Given the description of an element on the screen output the (x, y) to click on. 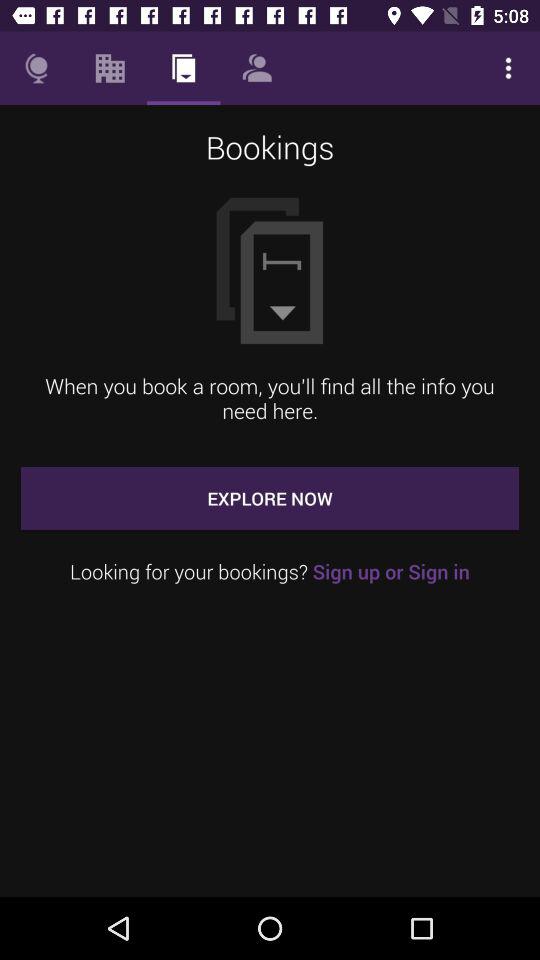
tap item below when you book icon (270, 497)
